Given the description of an element on the screen output the (x, y) to click on. 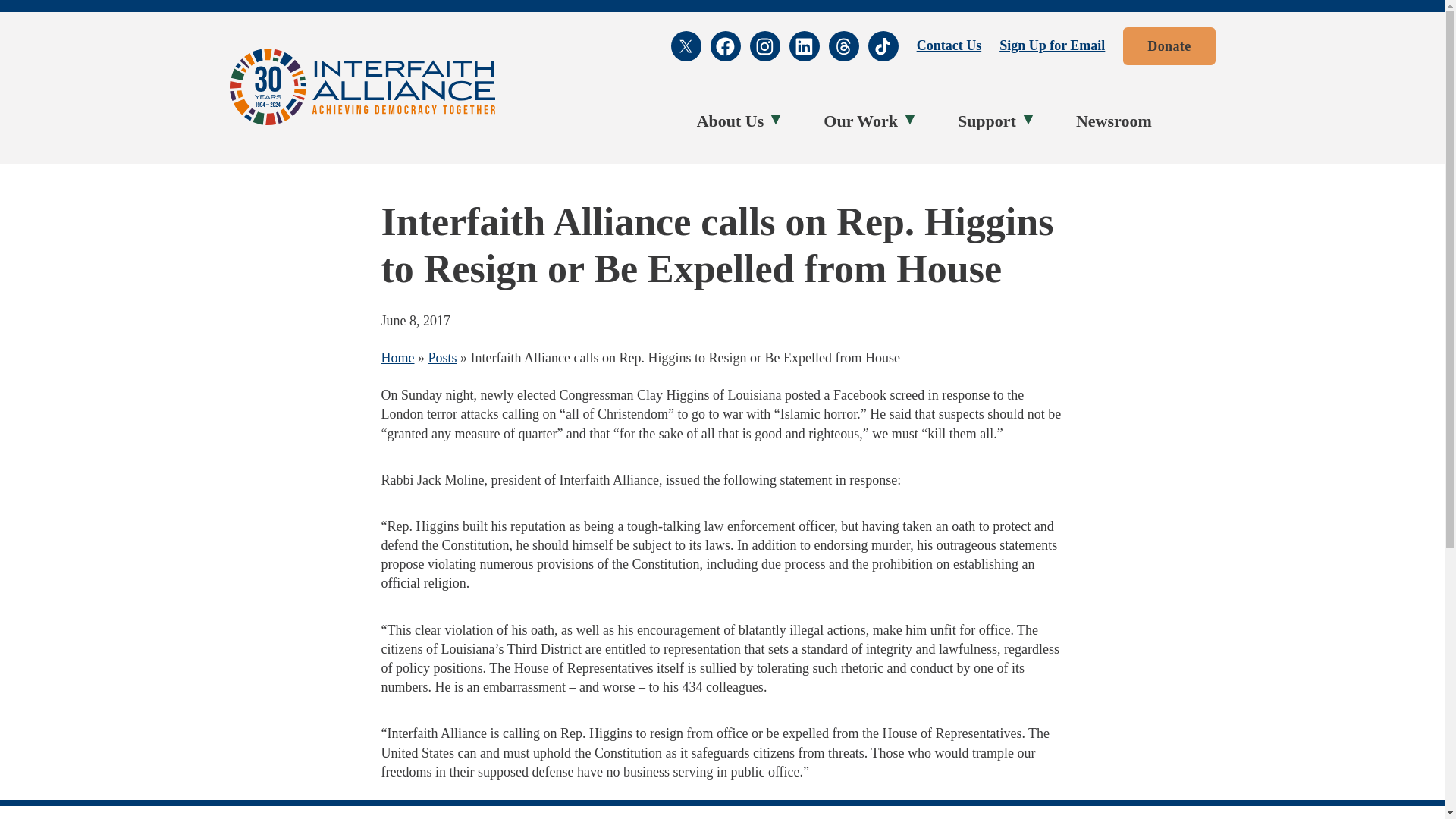
Donate (1168, 46)
X (686, 46)
TikTok (882, 46)
Instagram (764, 46)
Threads (843, 46)
About Us (734, 121)
Facebook (725, 46)
Our Work (864, 121)
Contact Us (949, 45)
LinkedIn (804, 46)
